Given the description of an element on the screen output the (x, y) to click on. 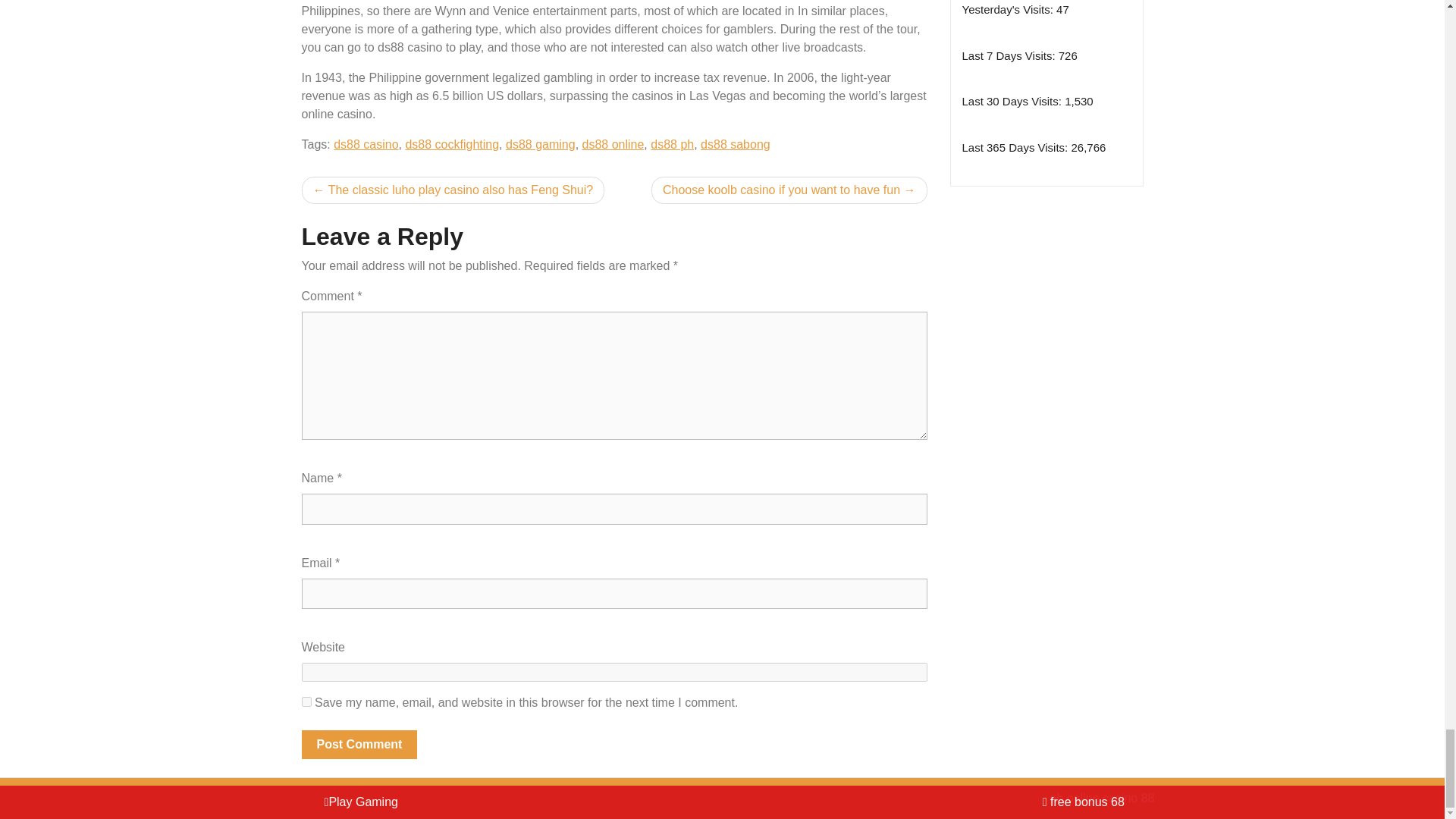
ds88 ph (672, 144)
Choose koolb casino if you want to have fun (788, 189)
ds88 gaming (540, 144)
Post Comment (359, 744)
yes (306, 701)
ds88 online (613, 144)
The classic luho play casino also has Feng Shui? (453, 189)
ds88 cockfighting (451, 144)
ds88 sabong (735, 144)
Post Comment (359, 744)
